Given the description of an element on the screen output the (x, y) to click on. 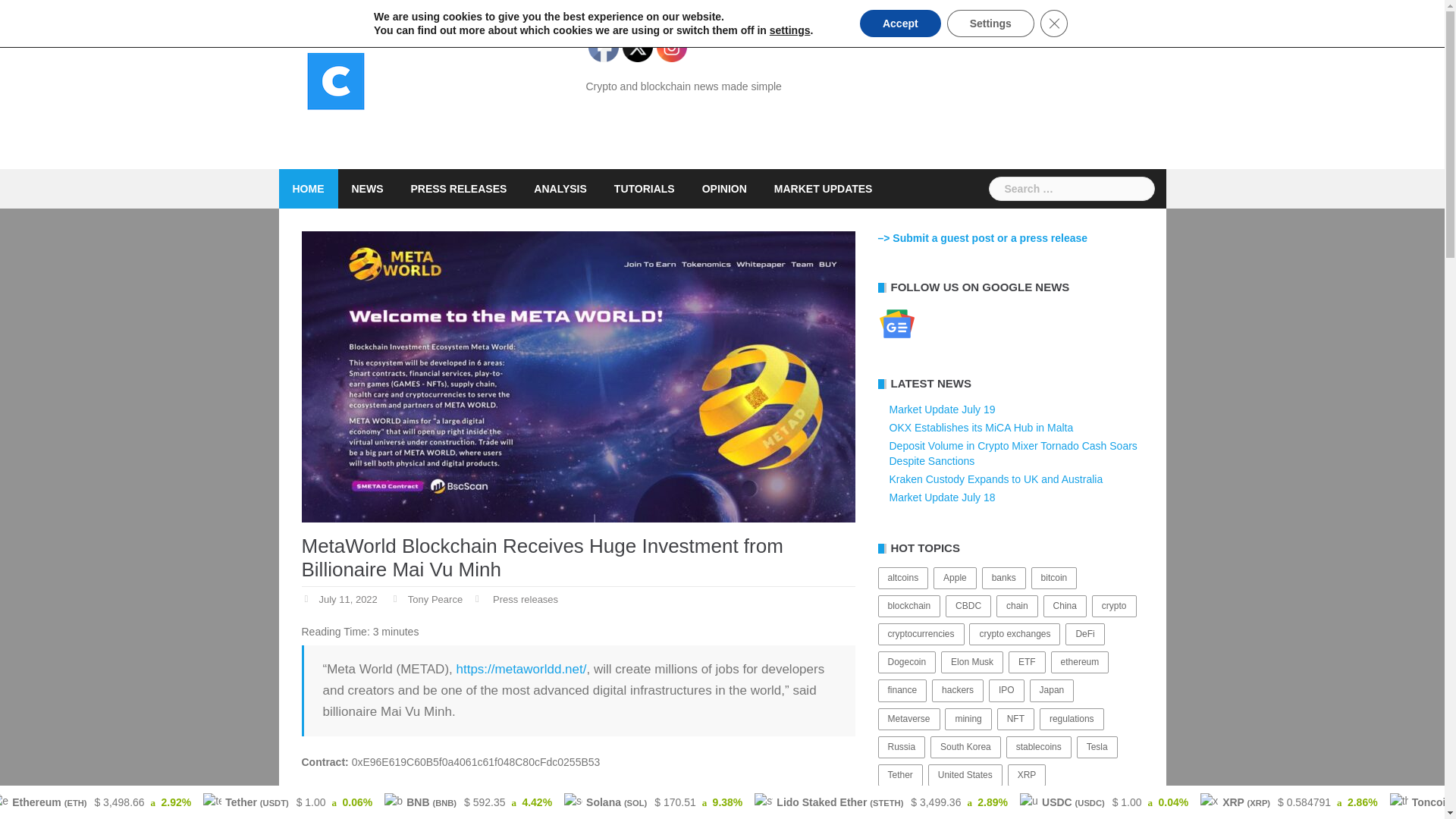
CBDC (967, 606)
China (1064, 606)
OPINION (723, 188)
crypto (1114, 606)
PRESS RELEASES (458, 188)
July 11, 2022 (347, 599)
TUTORIALS (644, 188)
Market Update July 18 (941, 497)
Press releases (525, 599)
cryptocurrenciesnewz.com (336, 84)
Follow us on Google News (896, 323)
Market Update July 19 (941, 409)
Apple (954, 577)
blockchain (908, 606)
Twitter (637, 46)
